Given the description of an element on the screen output the (x, y) to click on. 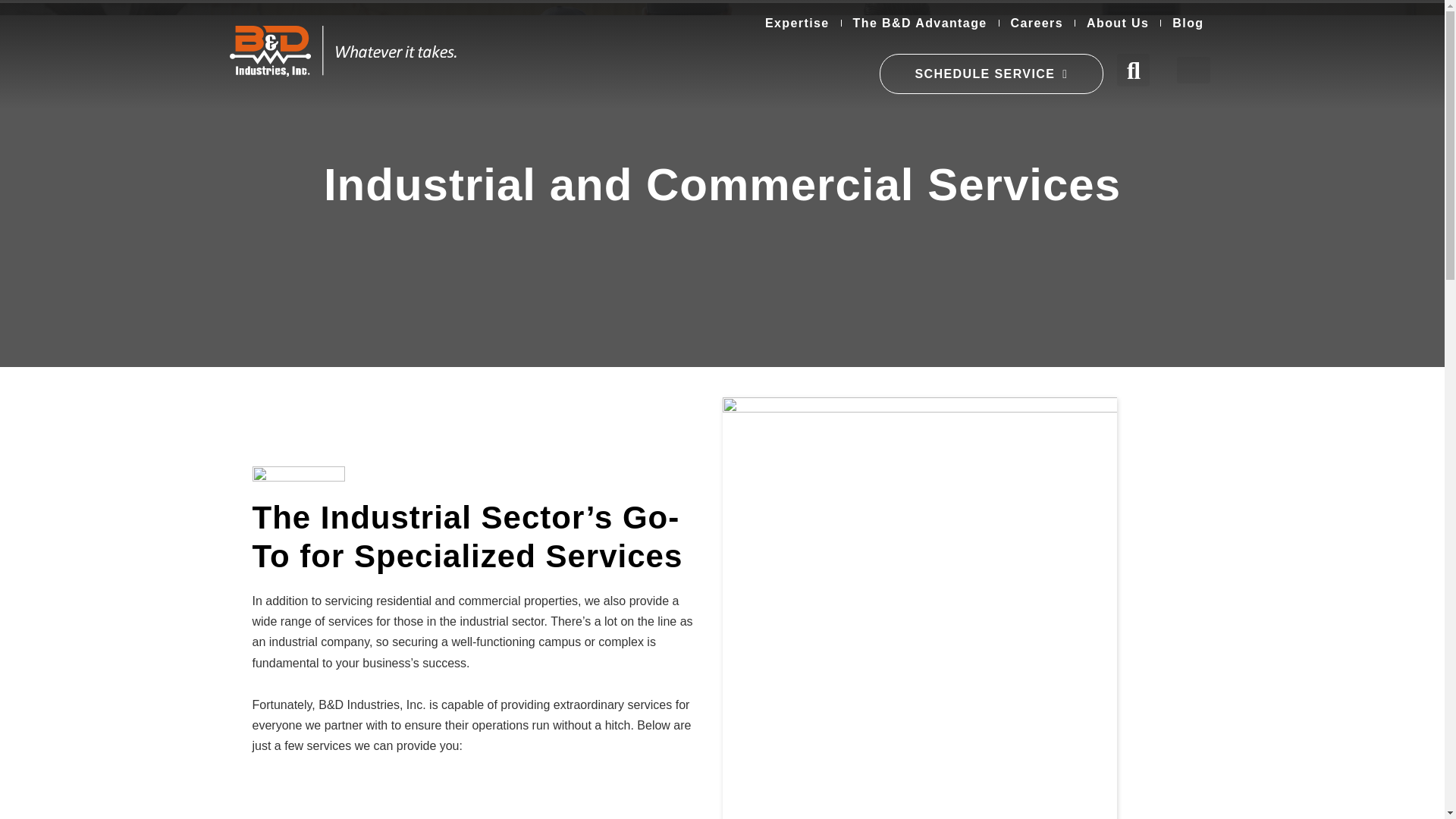
About Us (1117, 23)
SCHEDULE SERVICE (990, 74)
Careers (1036, 23)
Expertise (797, 23)
Blog (1187, 23)
